Given the description of an element on the screen output the (x, y) to click on. 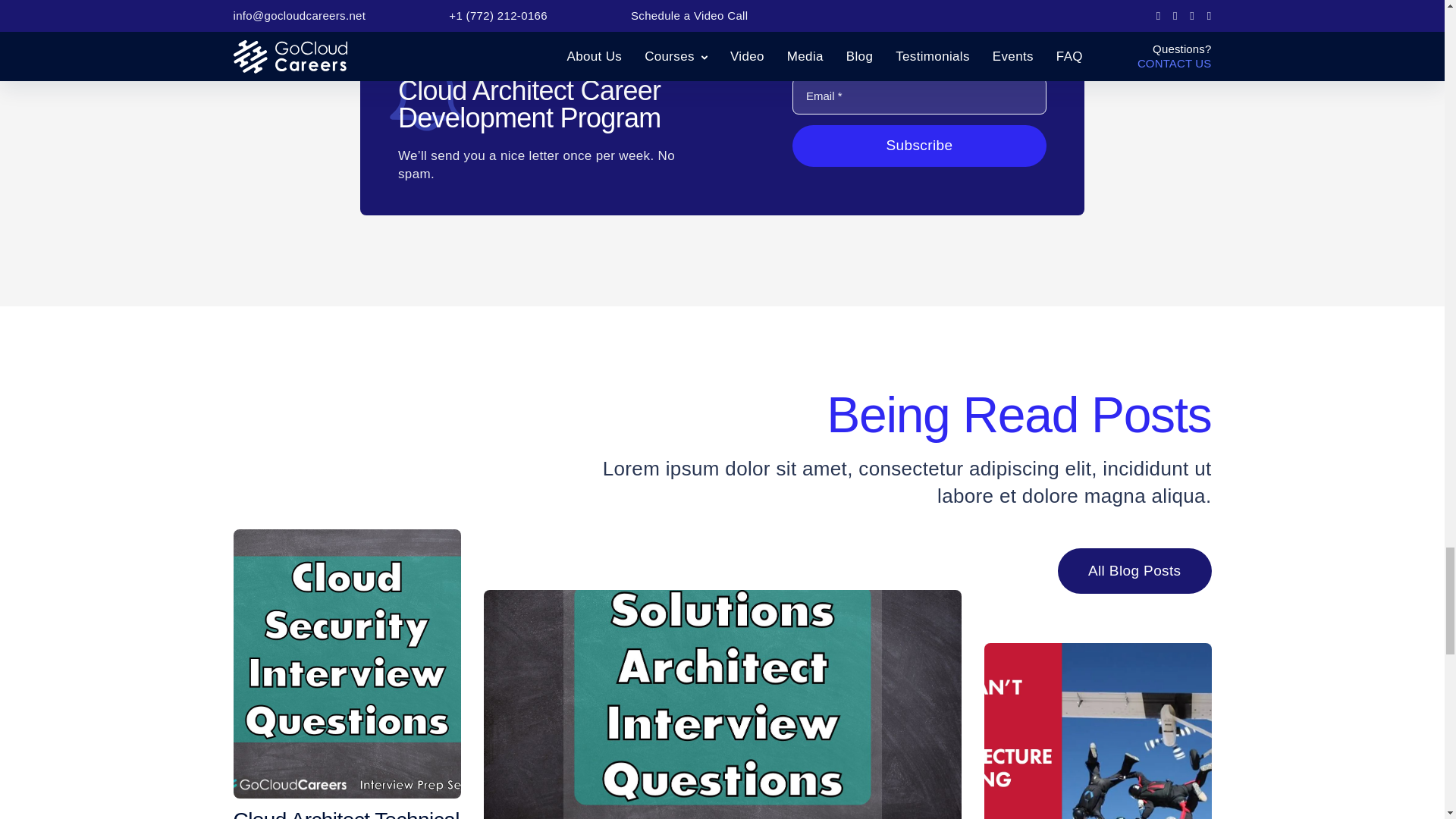
All Blog Posts (1134, 570)
Subscribe (919, 146)
Solutions Architect Interview Questions 2 (721, 704)
Subscribe (919, 146)
Cloud Architect Technical Interview 1 (346, 663)
Cloud Architect Technical Interview (346, 814)
